Given the description of an element on the screen output the (x, y) to click on. 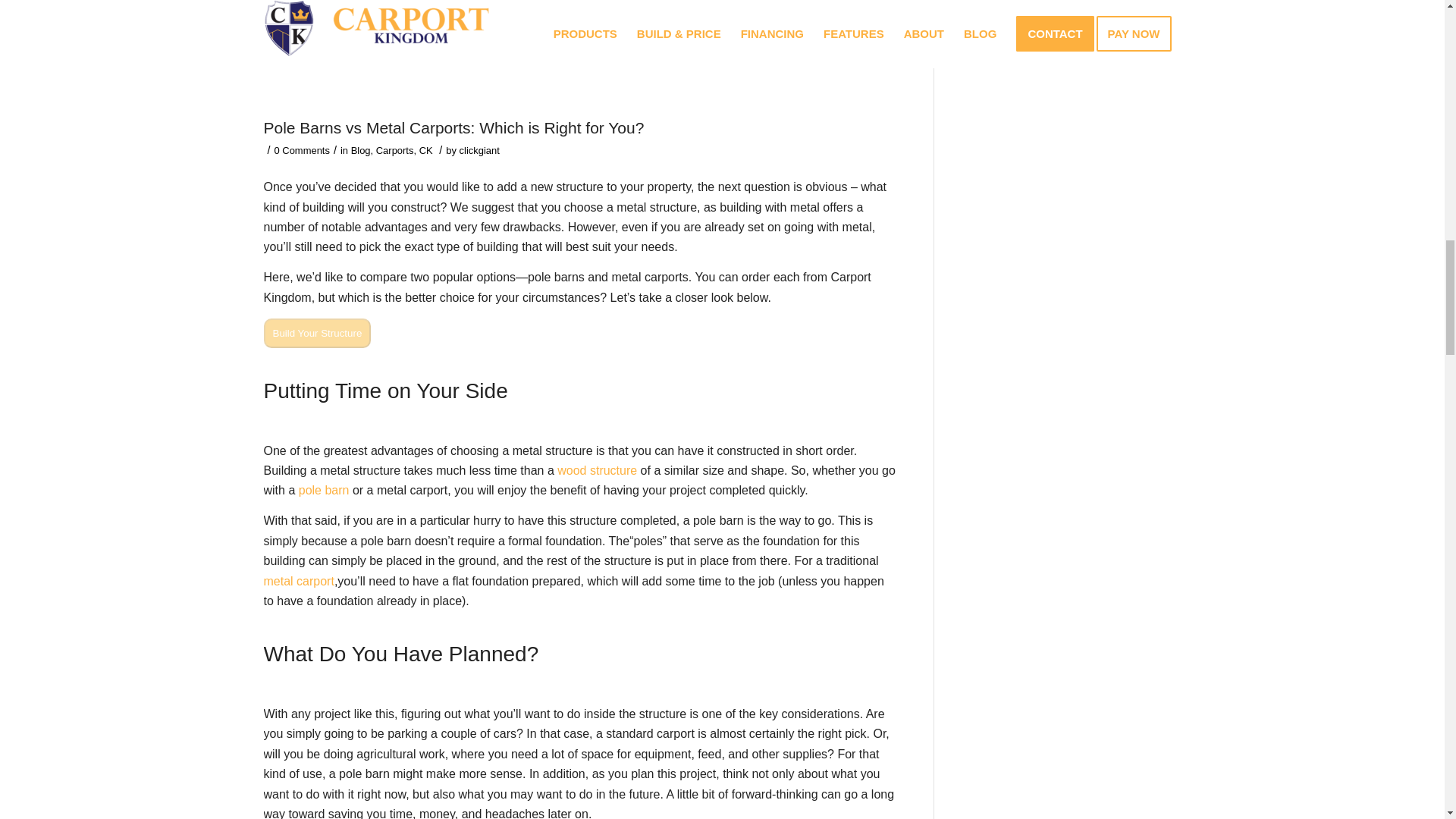
Blog (360, 150)
Posts by clickgiant (479, 150)
0 Comments (302, 150)
Carports (394, 150)
Pole Barns vs Metal Carports: Which is Right for You? (454, 127)
